Given the description of an element on the screen output the (x, y) to click on. 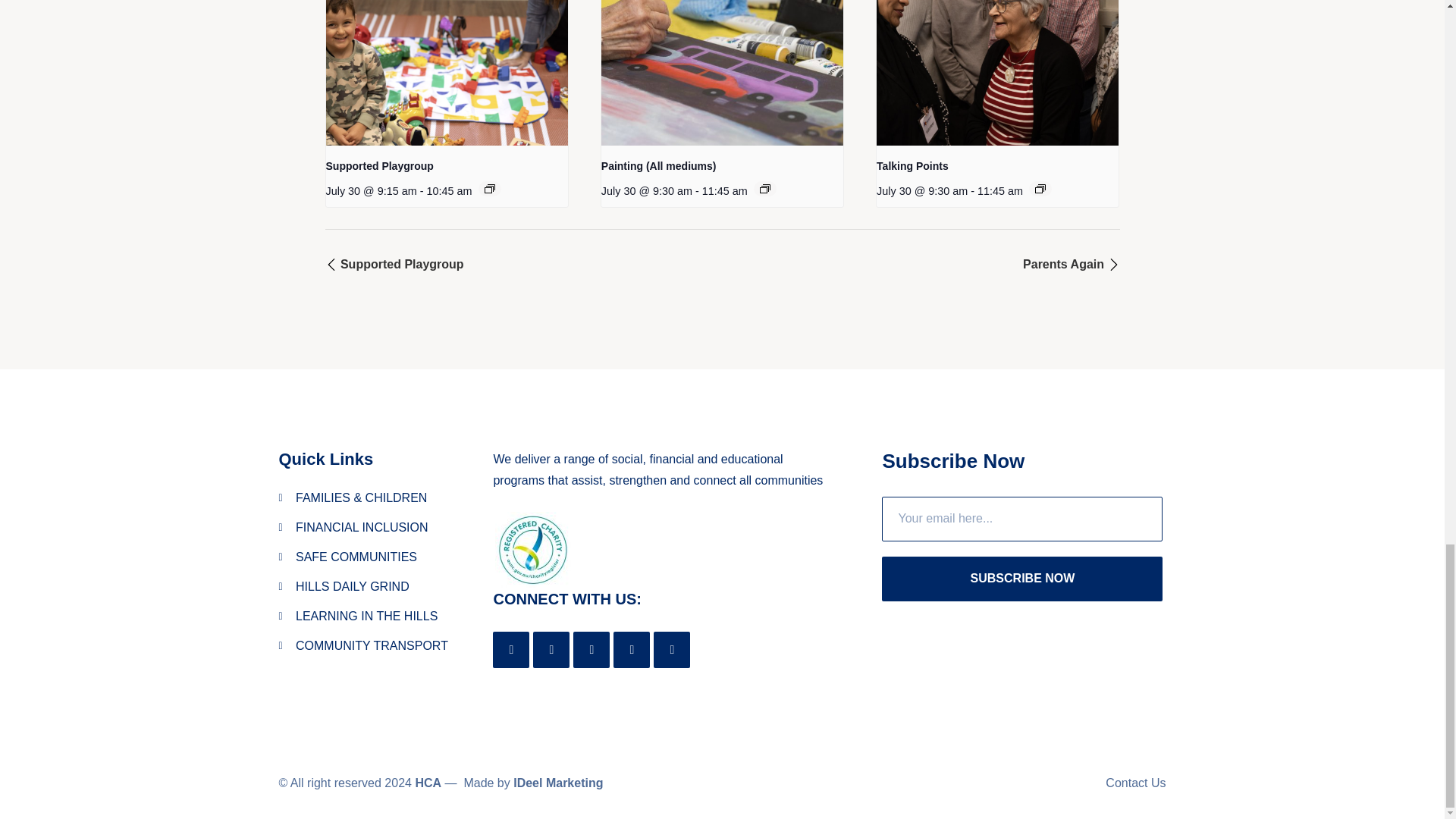
Event Series (765, 188)
Event Series (1040, 188)
ACNC Registered Charity Tick (532, 549)
Event Series (489, 188)
